Given the description of an element on the screen output the (x, y) to click on. 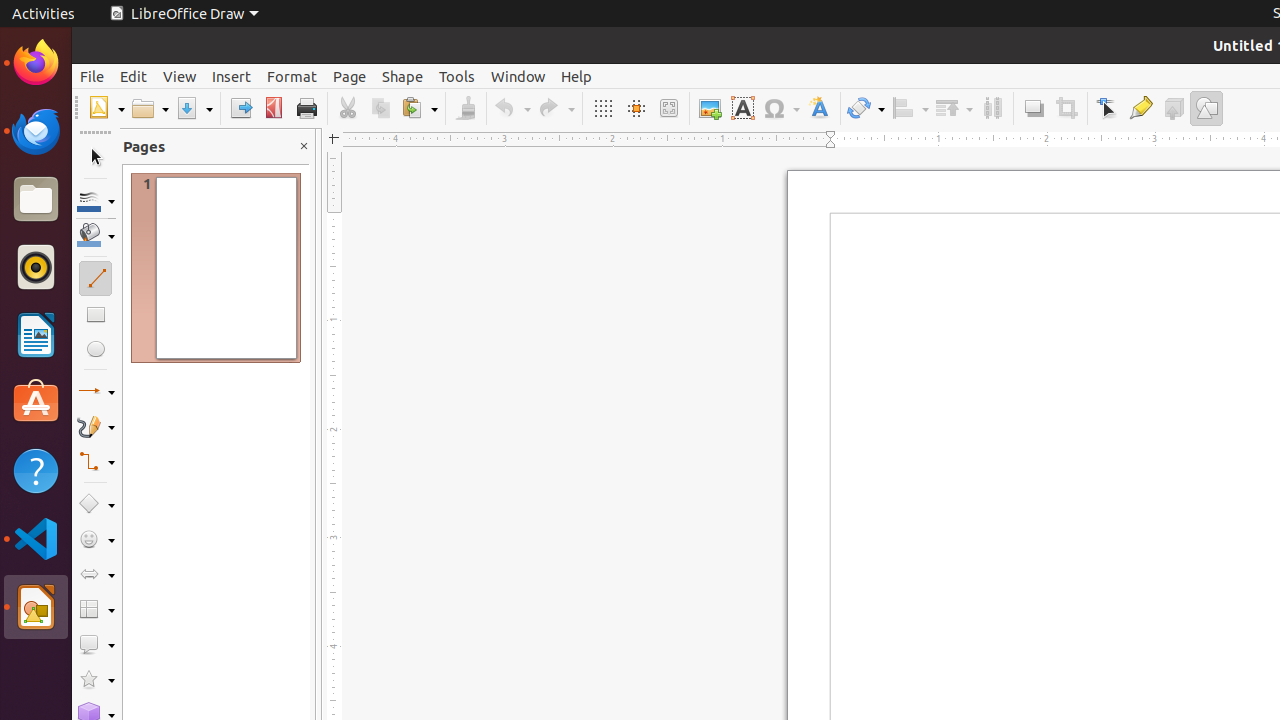
Insert Element type: menu (231, 76)
Fontwork Style Element type: toggle-button (819, 108)
Save Element type: push-button (194, 108)
Tools Element type: menu (457, 76)
Redo Element type: push-button (556, 108)
